Given the description of an element on the screen output the (x, y) to click on. 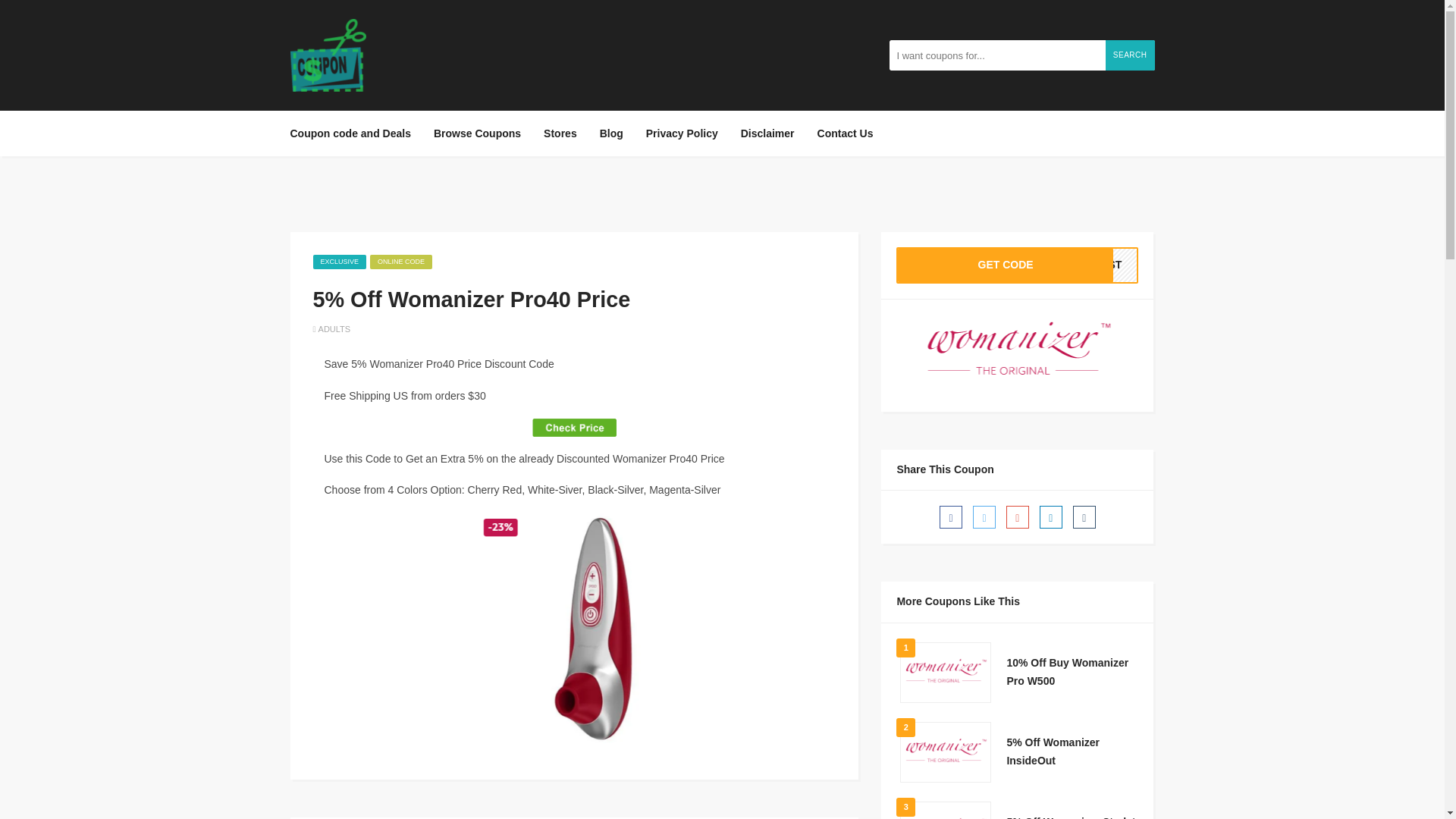
Blog (611, 133)
Contact Us (845, 133)
Disclaimer (767, 133)
Privacy Policy (681, 133)
Stores (560, 133)
Stores (560, 133)
SEARCH (1129, 55)
Disclaimer (1017, 265)
Contact Us (767, 133)
